Given the description of an element on the screen output the (x, y) to click on. 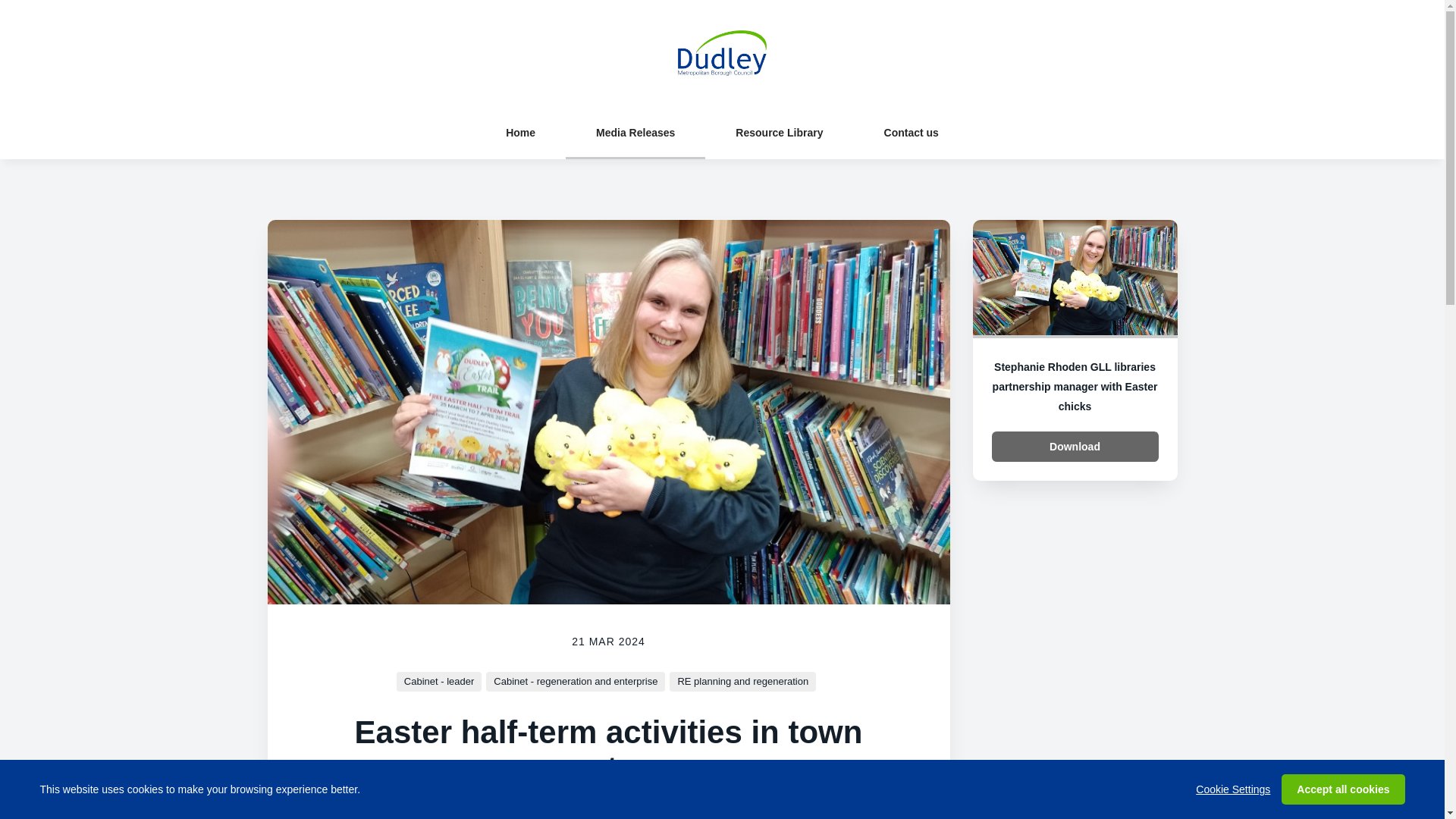
Resource Library (778, 132)
Cookie Settings (1232, 788)
Home (521, 132)
RE planning and regeneration (742, 681)
Cabinet - regeneration and enterprise (575, 681)
Accept all cookies (1343, 788)
Download (1074, 446)
Contact us (911, 132)
Media Releases (635, 132)
